Given the description of an element on the screen output the (x, y) to click on. 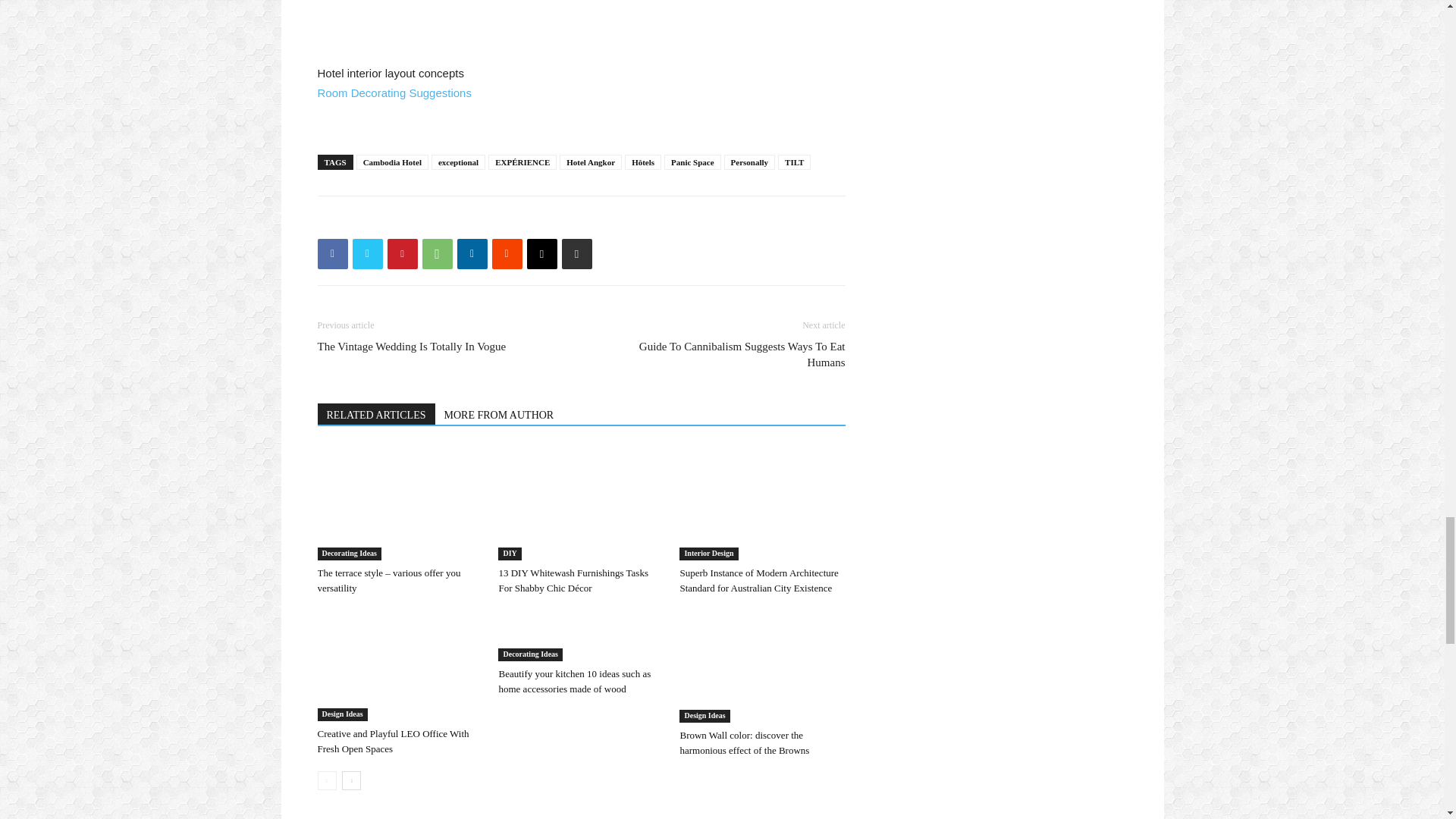
exceptional (457, 161)
Cambodia Hotel (392, 161)
Room Decorating Suggestions (393, 92)
